Given the description of an element on the screen output the (x, y) to click on. 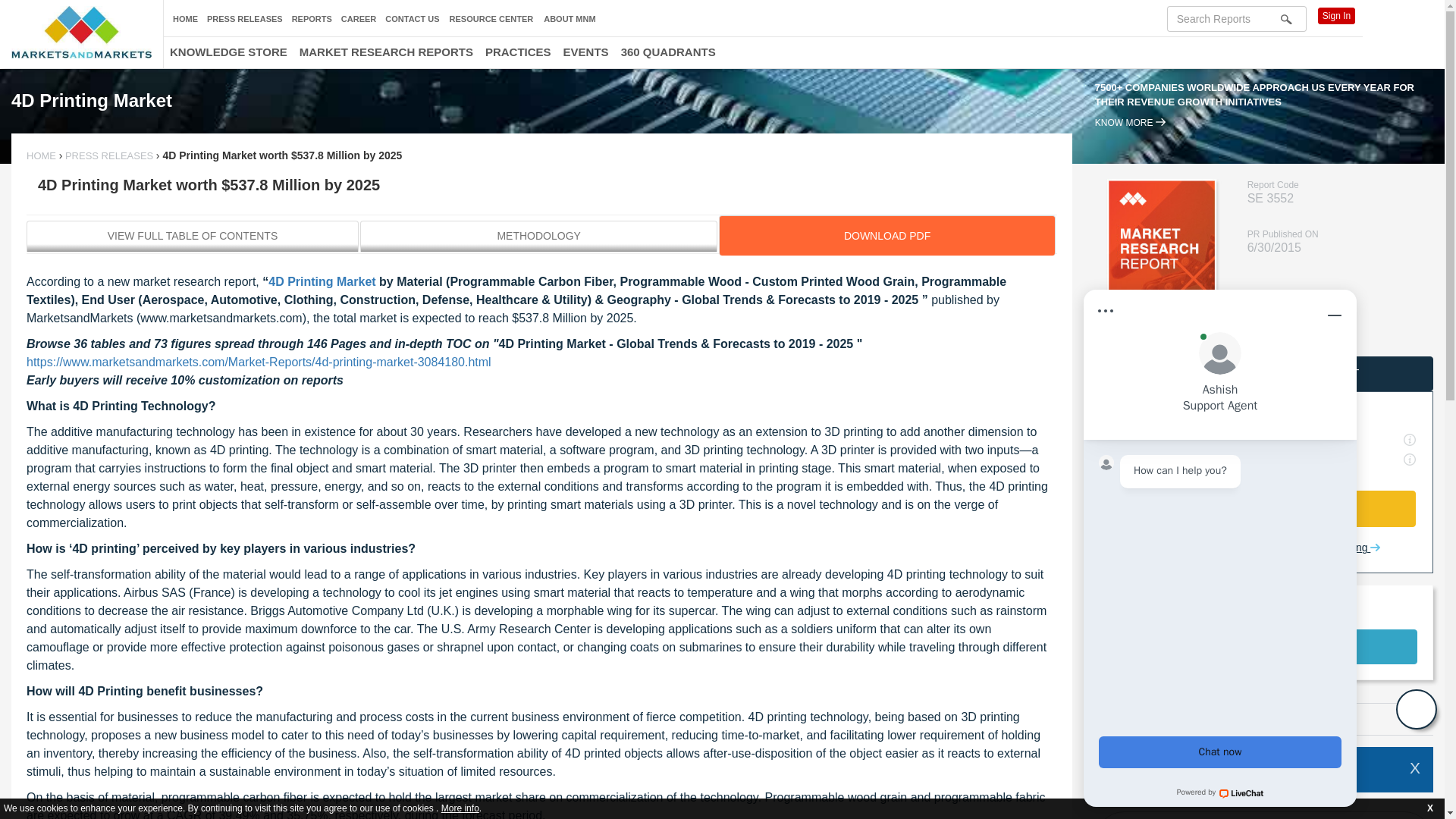
RESOURCE CENTER (491, 19)
PRESS RELEASES (244, 18)
METHODOLOGY (538, 235)
More info (460, 808)
HOME (42, 155)
REPORTS (311, 18)
CAREER (357, 18)
Press release (108, 155)
Inquire Before Buying (1322, 548)
Request New Version (1204, 548)
CONTACT US (412, 18)
Market Research Firm (81, 31)
Email (1108, 718)
